Given the description of an element on the screen output the (x, y) to click on. 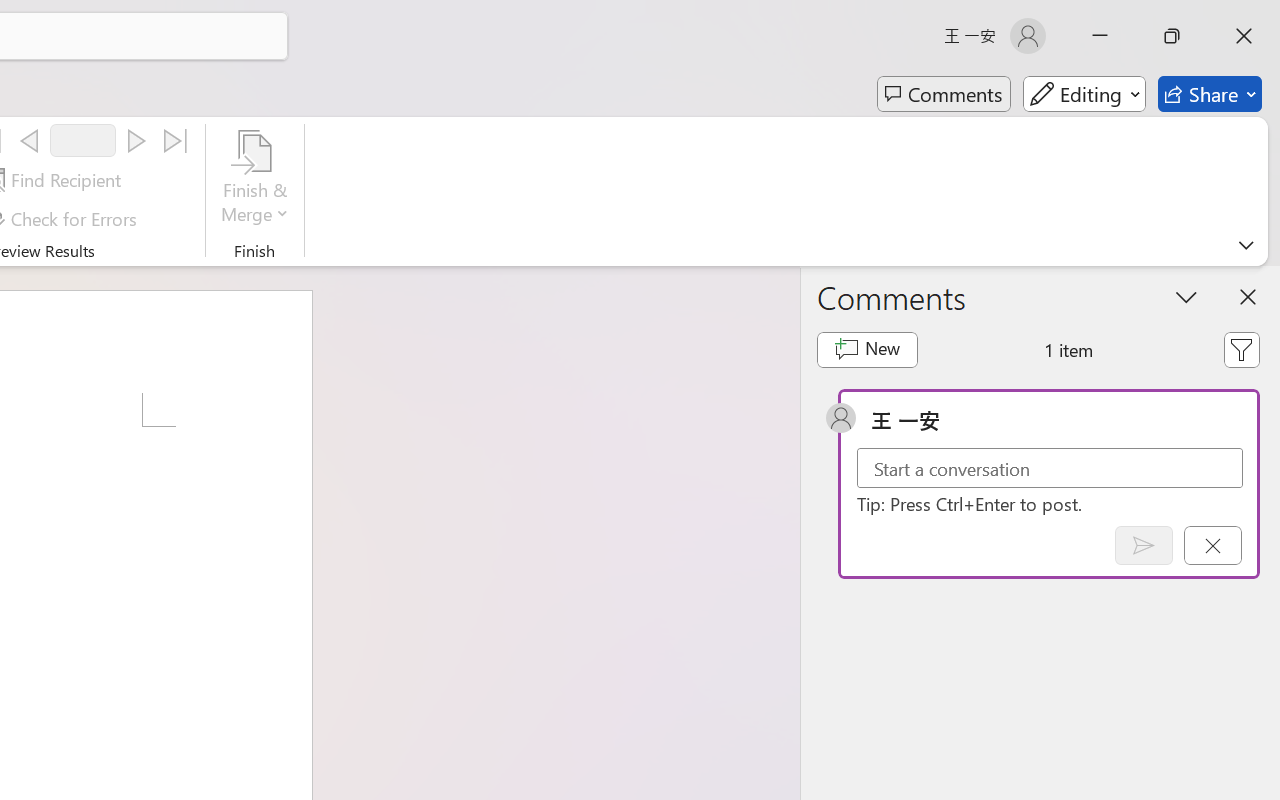
Cancel (1212, 545)
Finish & Merge (255, 179)
New comment (866, 350)
